Given the description of an element on the screen output the (x, y) to click on. 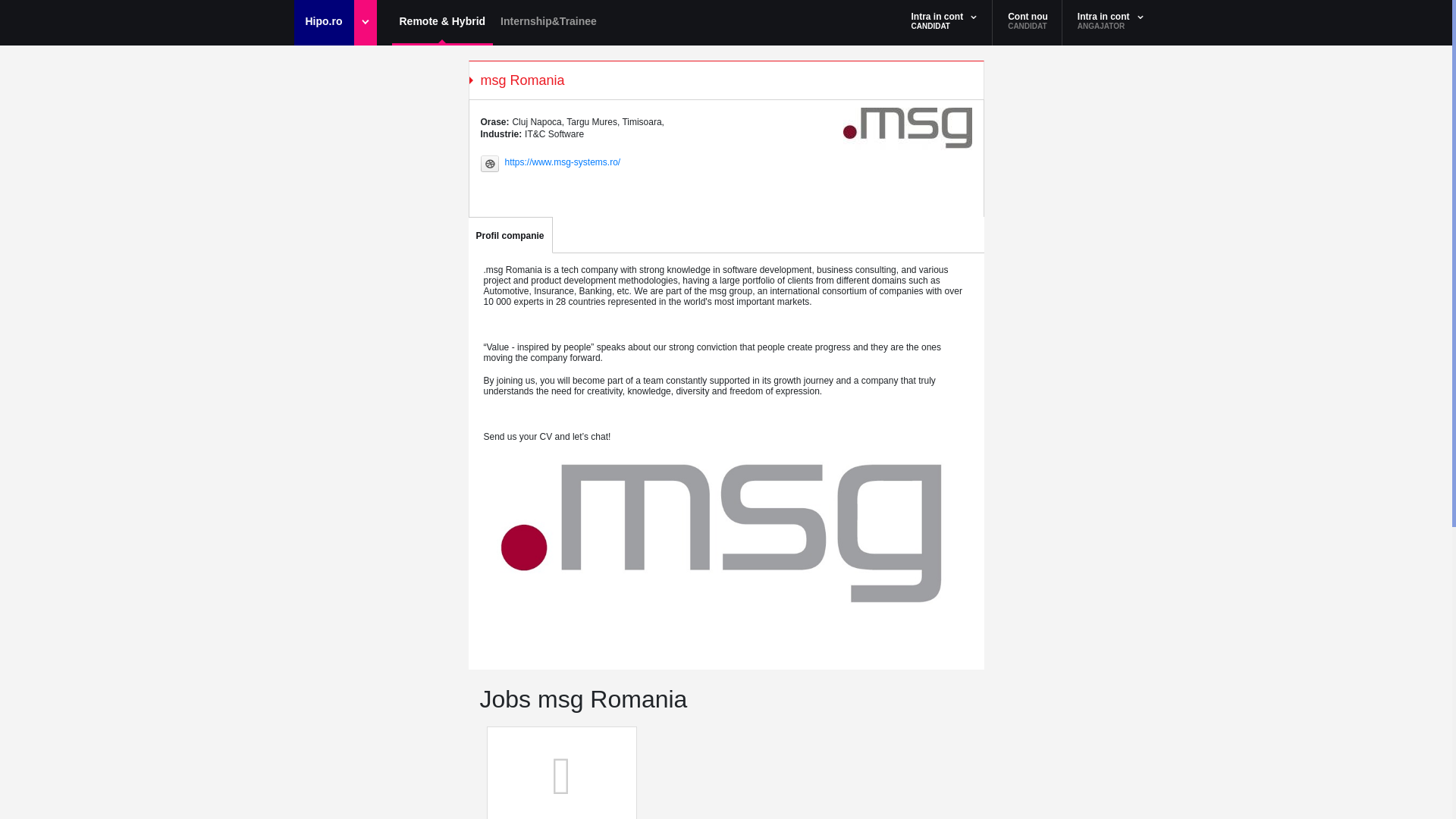
Site (563, 162)
Hipo.ro (335, 22)
Site (489, 164)
msg Romania (907, 128)
